Given the description of an element on the screen output the (x, y) to click on. 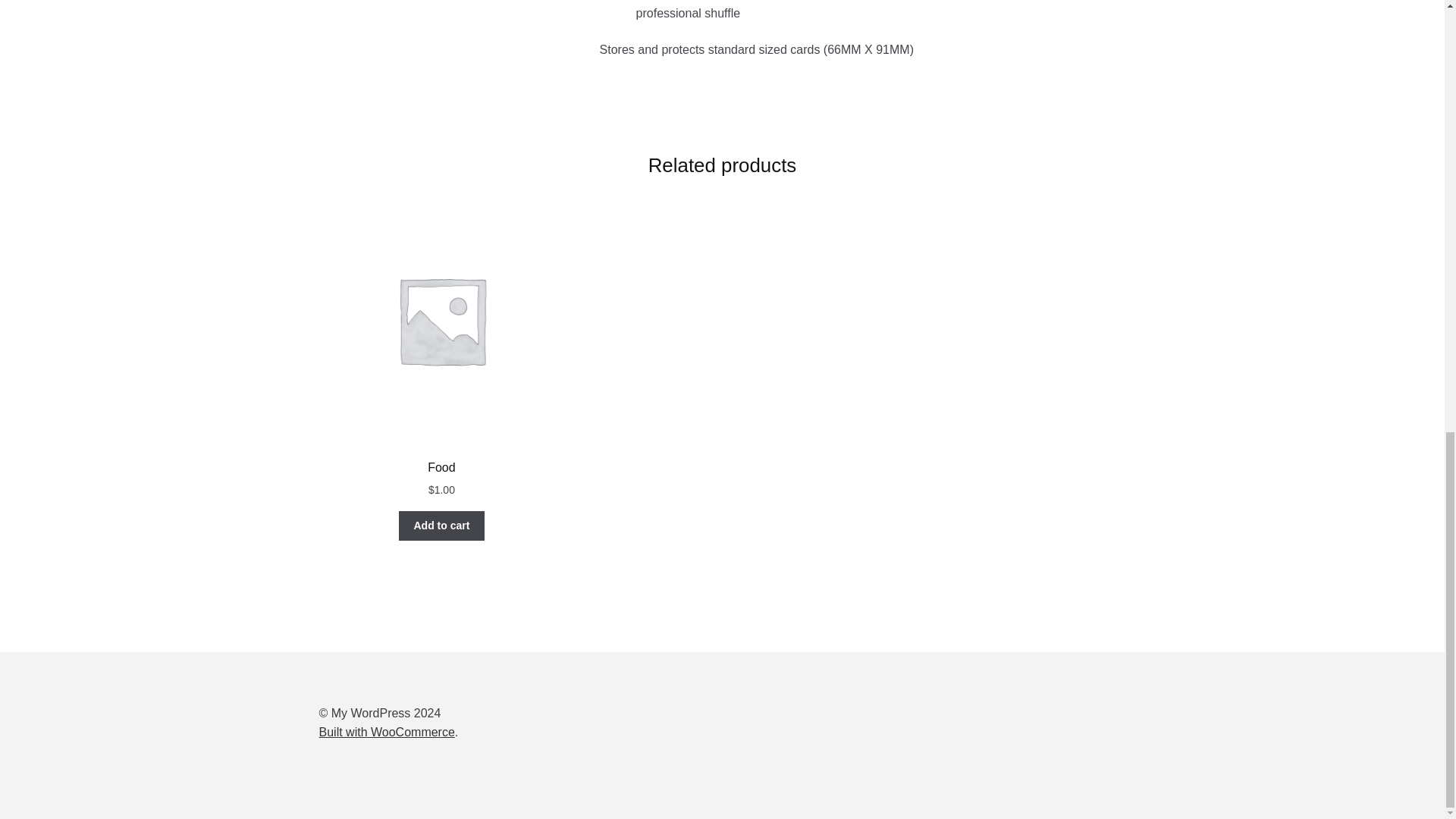
Built with WooCommerce (386, 731)
Add to cart (441, 526)
WooCommerce - The Best eCommerce Platform for WordPress (386, 731)
